Given the description of an element on the screen output the (x, y) to click on. 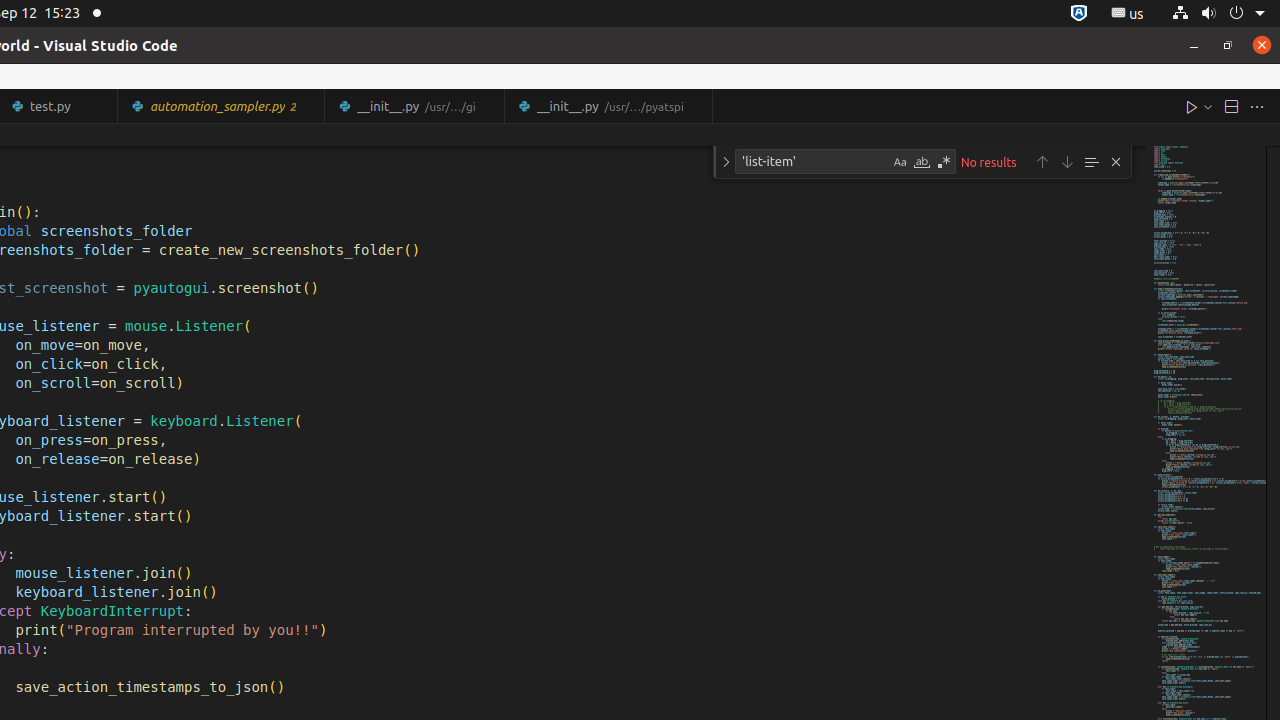
Match Case (Alt+C) Element type: check-box (900, 162)
Close (Escape) Element type: push-button (1116, 162)
Run Python File Element type: push-button (1192, 106)
automation_sampler.py, preview Element type: page-tab (222, 106)
Previous Match (Shift+Enter) Element type: push-button (1042, 161)
